Given the description of an element on the screen output the (x, y) to click on. 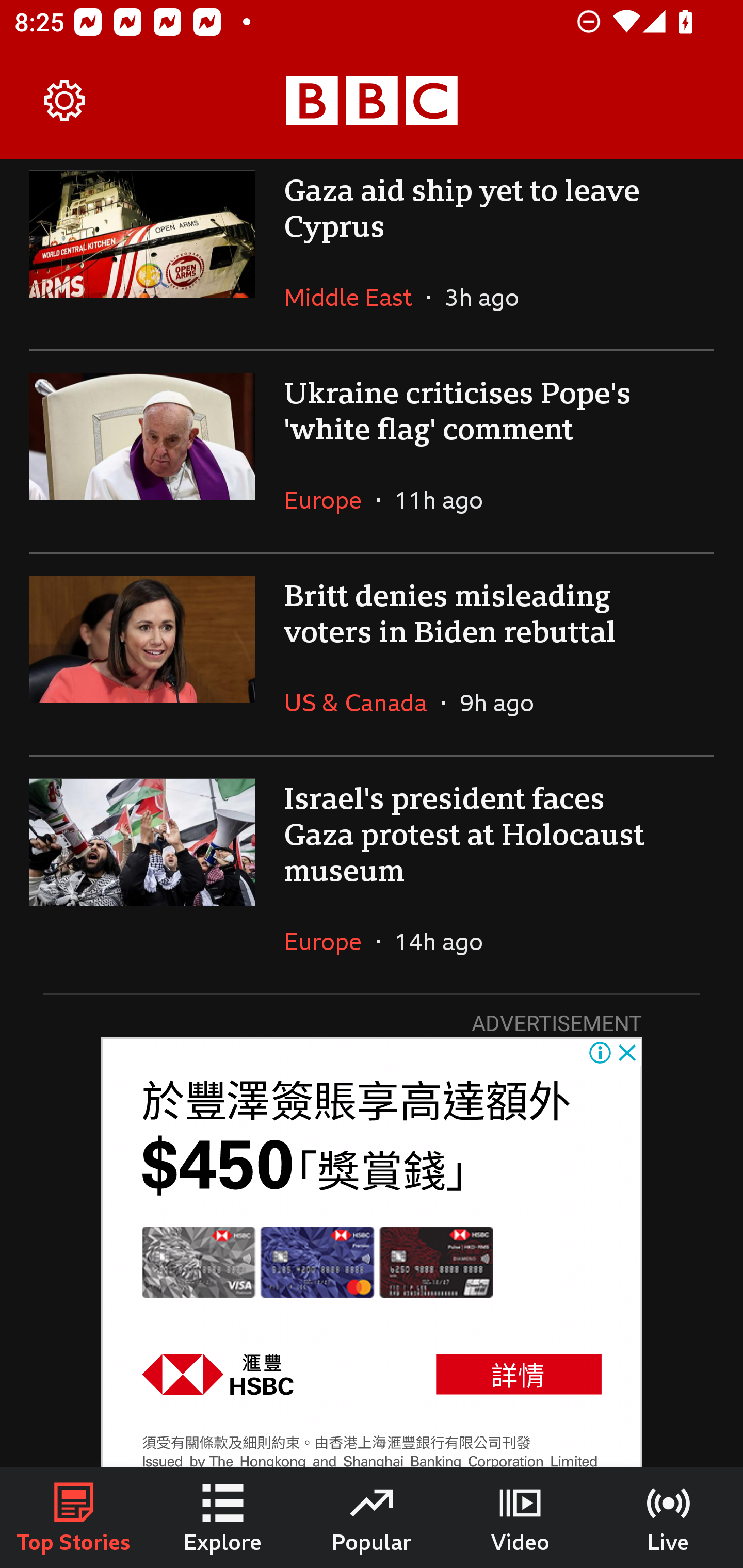
Settings (64, 100)
Middle East In the section Middle East (354, 296)
Europe In the section Europe (329, 499)
US & Canada In the section US & Canada (362, 702)
Europe In the section Europe (329, 941)
300x250 (371, 1252)
Explore (222, 1517)
Popular (371, 1517)
Video (519, 1517)
Live (668, 1517)
